Given the description of an element on the screen output the (x, y) to click on. 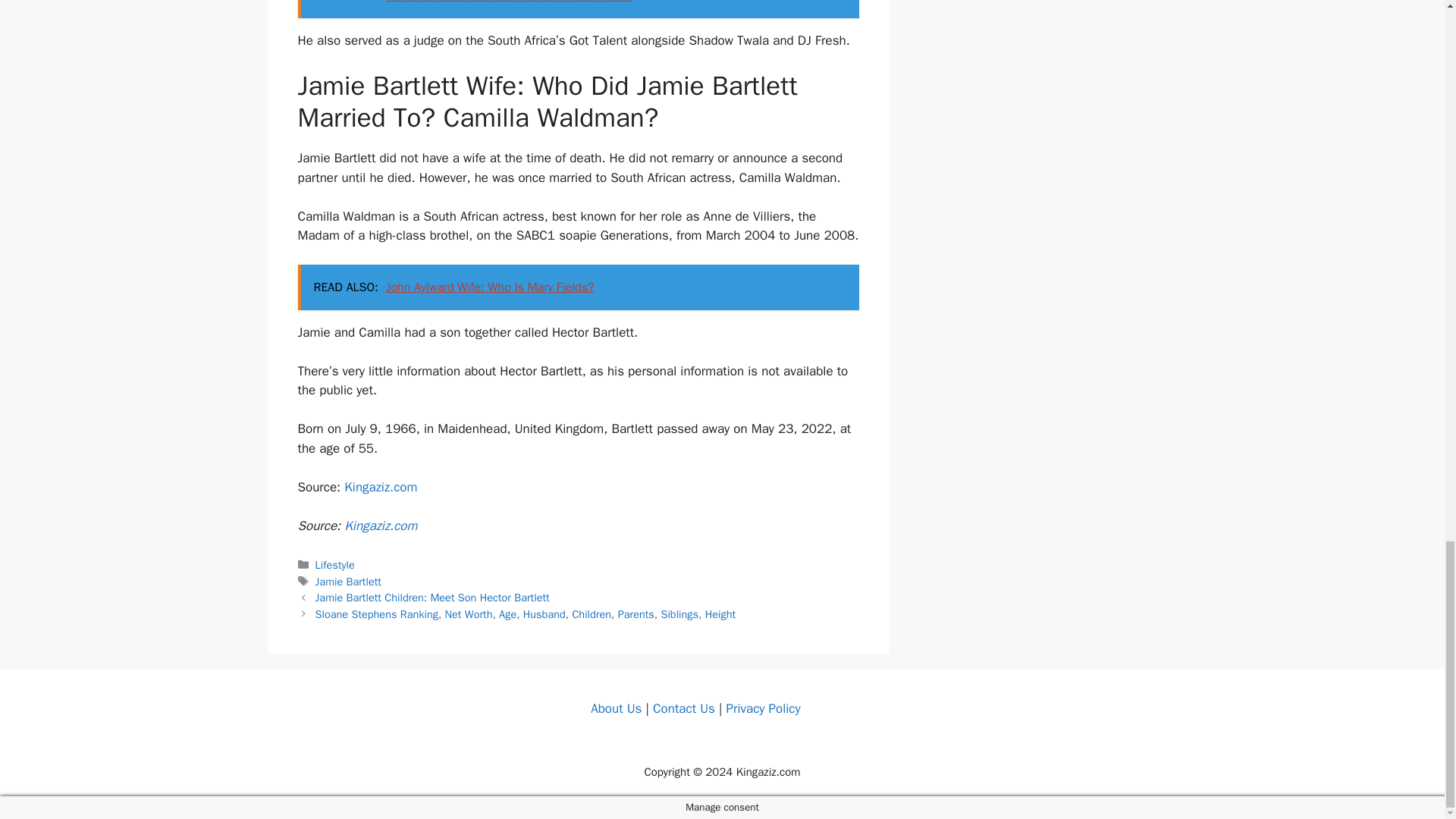
About Us (616, 708)
READ ALSO:  John Aylward Wife: Who Is Mary Fields? (578, 287)
Jamie Bartlett Children: Meet Son Hector Bartlett (432, 597)
Privacy Policy (762, 708)
Lifestyle (335, 564)
Kingaziz.com (379, 487)
Kingaziz.com (379, 525)
Jamie Bartlett (348, 581)
READ ALSO:  Jamie Bartlett Net Worth At The Time Of Death (578, 9)
Contact Us (683, 708)
